Given the description of an element on the screen output the (x, y) to click on. 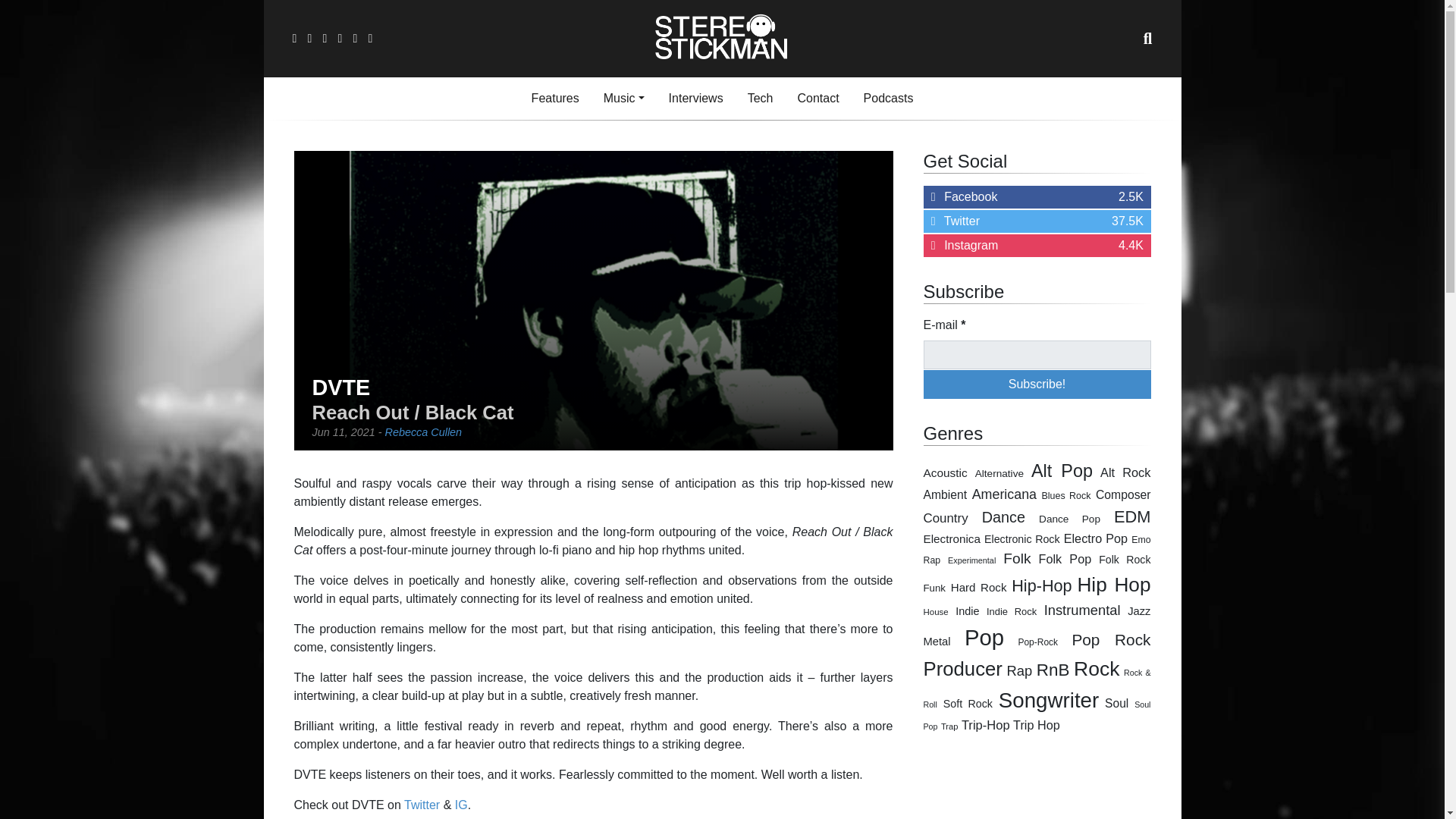
E-mail (1037, 354)
Features (555, 98)
Podcasts (888, 98)
Interviews (695, 98)
IG (460, 804)
Music (1037, 220)
Contact (623, 98)
Tech (817, 98)
Subscribe! (760, 98)
Features (1037, 384)
Rebecca Cullen (555, 98)
Contact (424, 431)
Tech (817, 98)
Music (760, 98)
